Given the description of an element on the screen output the (x, y) to click on. 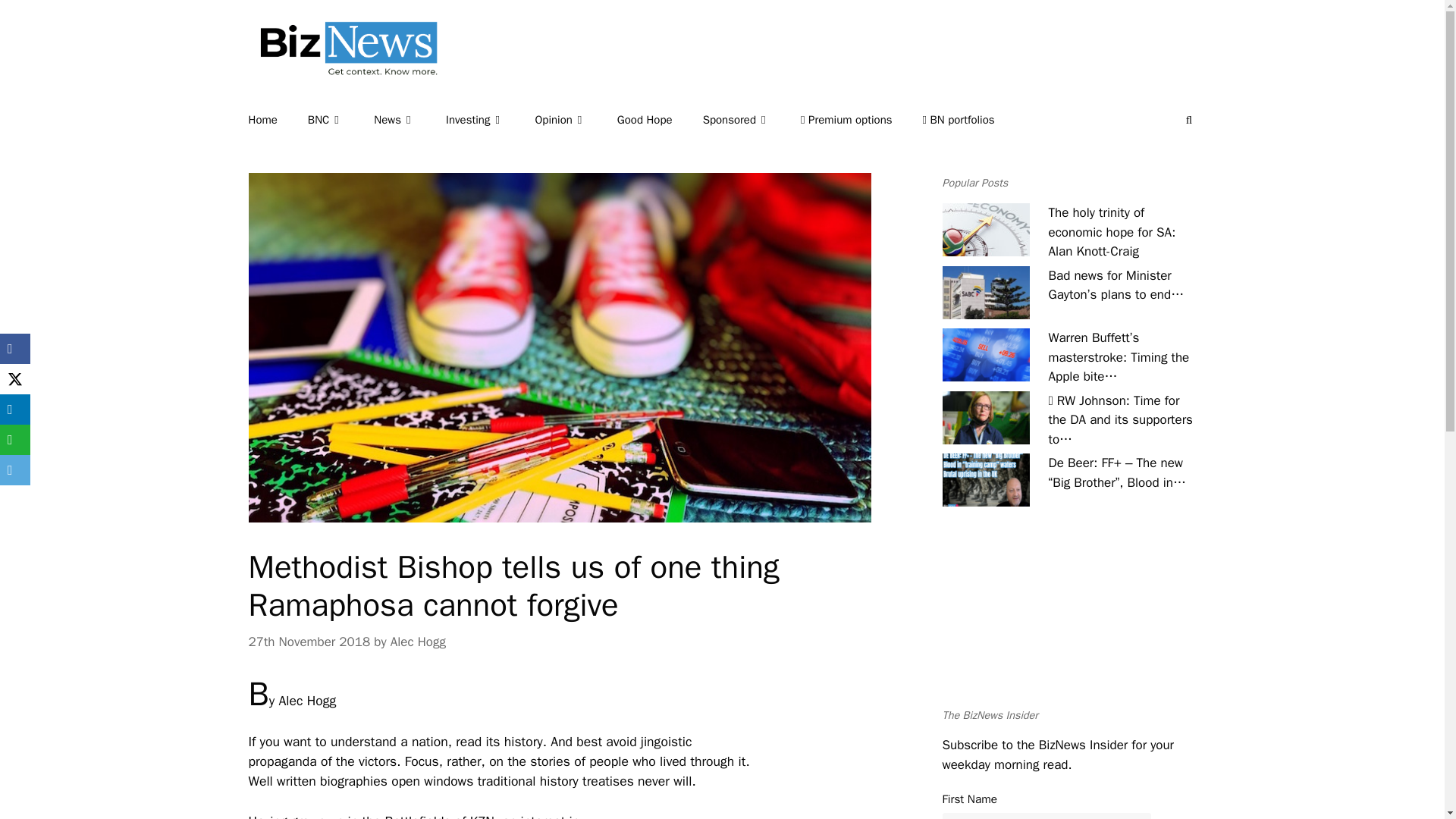
News (409, 119)
View all posts by Alec Hogg (417, 641)
Spotify Embed: BizNews Radio (1068, 619)
Sponsored (751, 119)
The holy trinity of economic hope for SA: Alan Knott-Craig (985, 229)
Investing (489, 119)
Good Hope (660, 119)
Home (277, 119)
BNC (340, 119)
BizNews (343, 69)
